Given the description of an element on the screen output the (x, y) to click on. 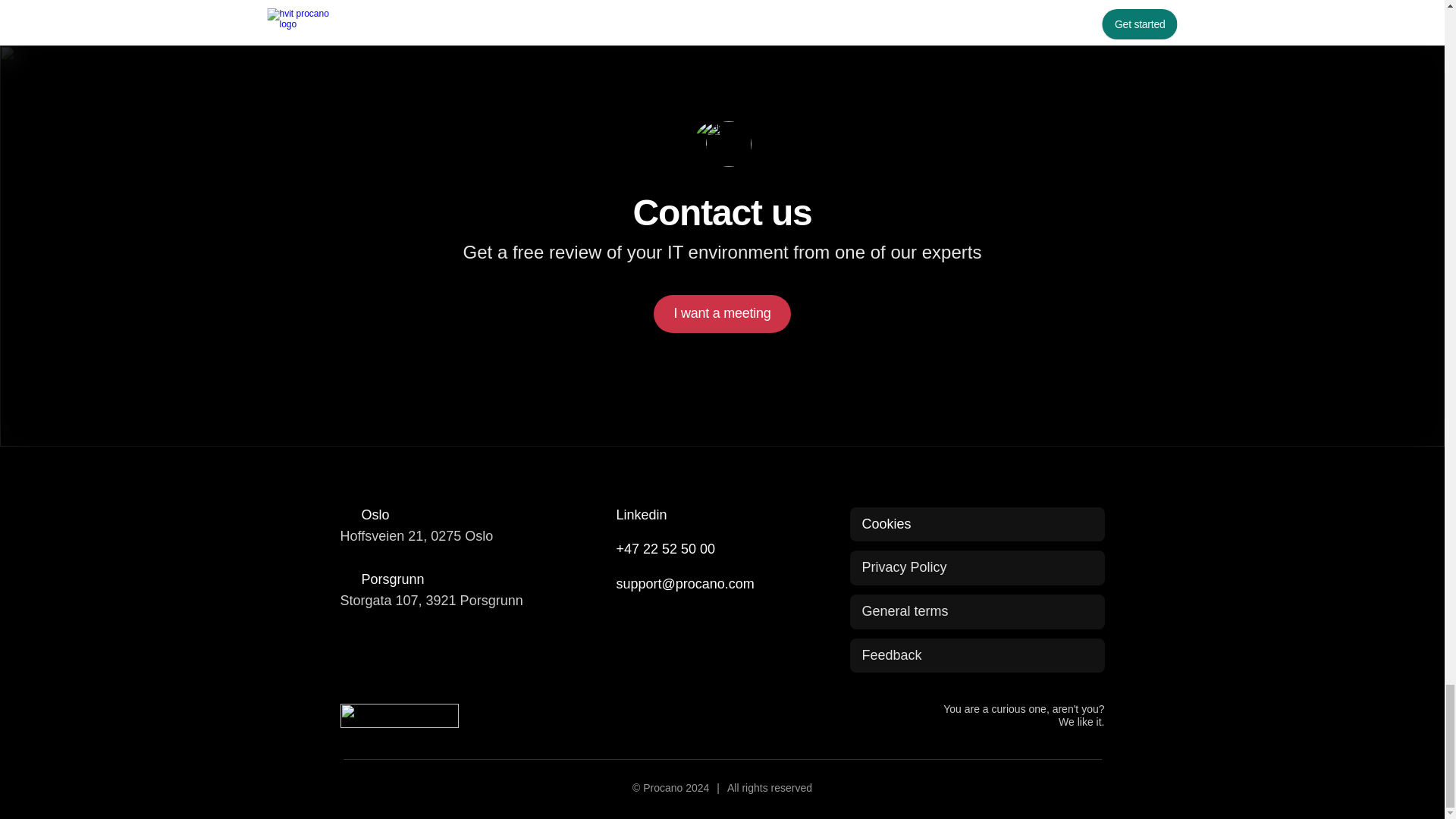
Feedback (975, 655)
Privacy Policy (975, 567)
I want a meeting (721, 313)
Cookies (886, 524)
Linkedin (721, 515)
General terms (975, 611)
